Given the description of an element on the screen output the (x, y) to click on. 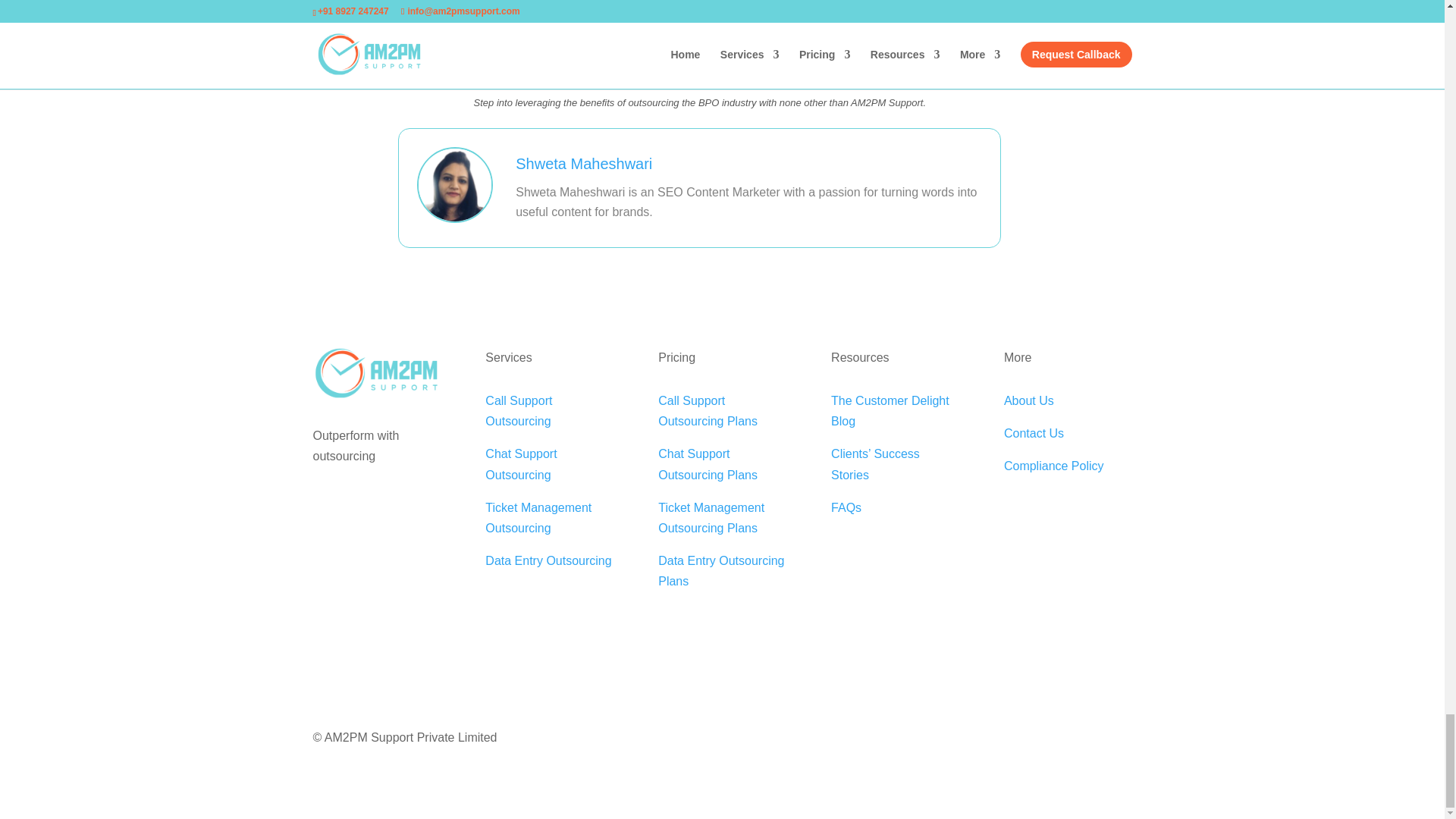
Follow on Facebook (1088, 739)
Follow on LinkedIn (1028, 739)
Follow on X (1118, 739)
Follow on Instagram (1058, 739)
Call Support Outsourcing (517, 410)
am2pm-support-logo-img (376, 374)
Shweta Maheshwari (583, 163)
Shweta Maheshwari (583, 163)
